Given the description of an element on the screen output the (x, y) to click on. 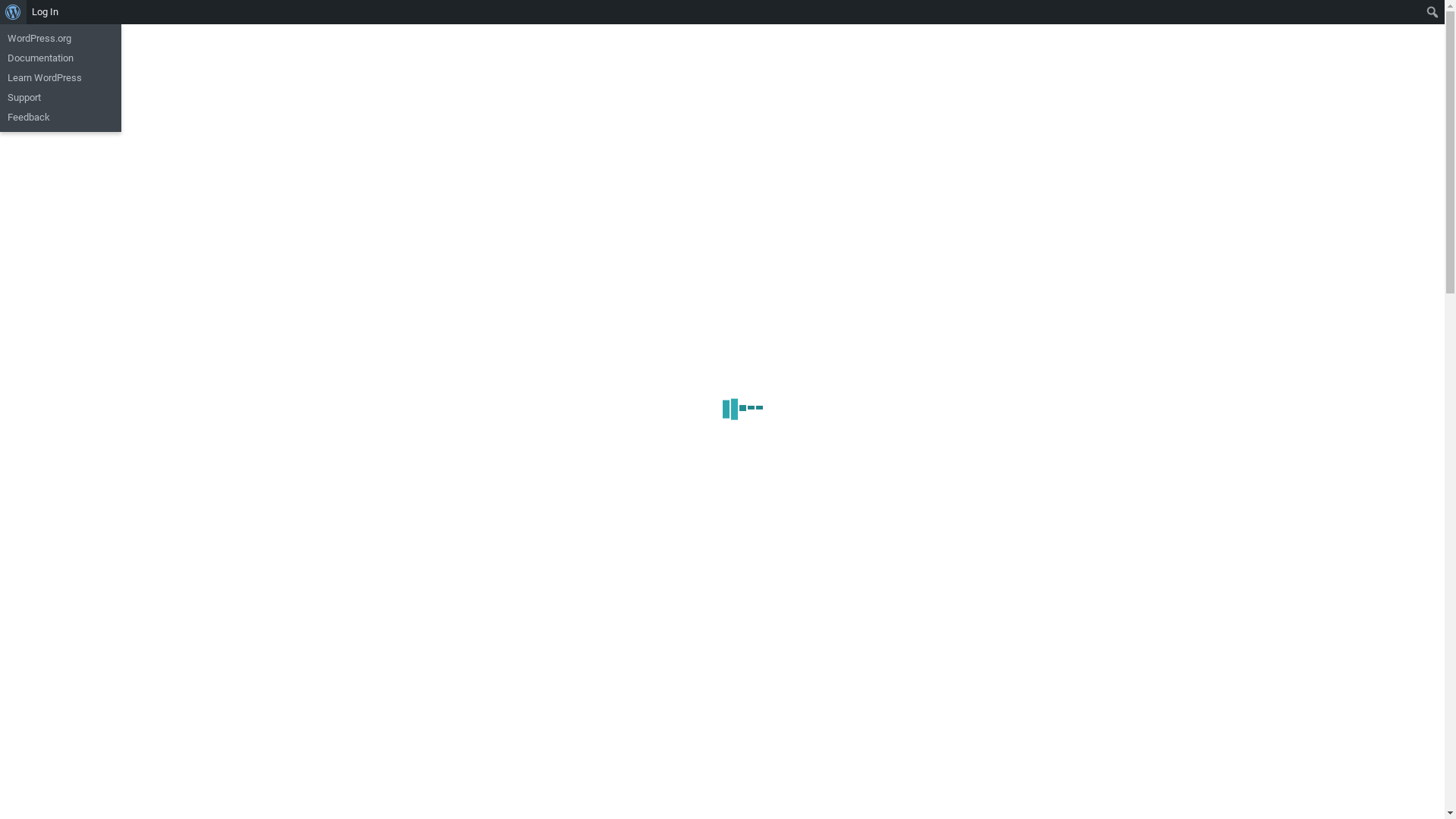
Jewish Life Element type: text (888, 25)
Documentation Element type: text (60, 58)
Search Element type: text (15, 12)
WordPress.org Element type: text (60, 38)
Programs Element type: text (820, 25)
Log In Element type: text (45, 12)
Donate to JBD Element type: text (1029, 25)
Jews of the CBD Element type: hover (722, 30)
About Element type: text (1164, 25)
Home Element type: text (765, 25)
Join Now Element type: text (826, 610)
Jews of the CBD Element type: text (282, 118)
What's On in the CBD Element type: text (661, 610)
Feedback Element type: text (60, 117)
Learn WordPress Element type: text (60, 77)
Join JBD Element type: text (955, 25)
Support Element type: text (60, 97)
Resources Element type: text (1106, 25)
